Given the description of an element on the screen output the (x, y) to click on. 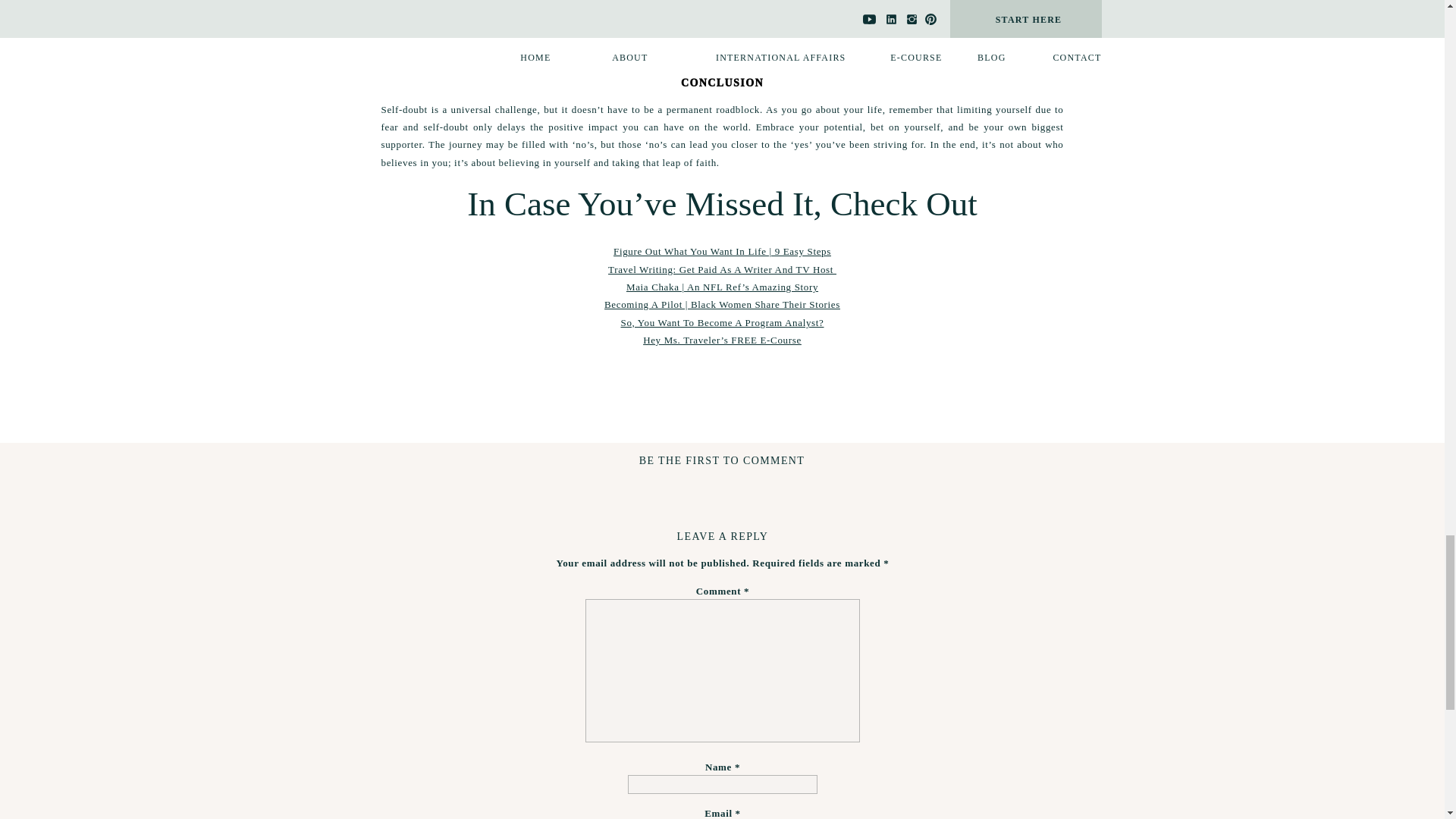
So, You Want To Become A Program Analyst? (722, 322)
Travel Writing: Get Paid As A Writer And TV Host  (721, 269)
Unsplash (532, 58)
BE THE FIRST TO COMMENT (722, 460)
Ian Stauffer (470, 58)
